Given the description of an element on the screen output the (x, y) to click on. 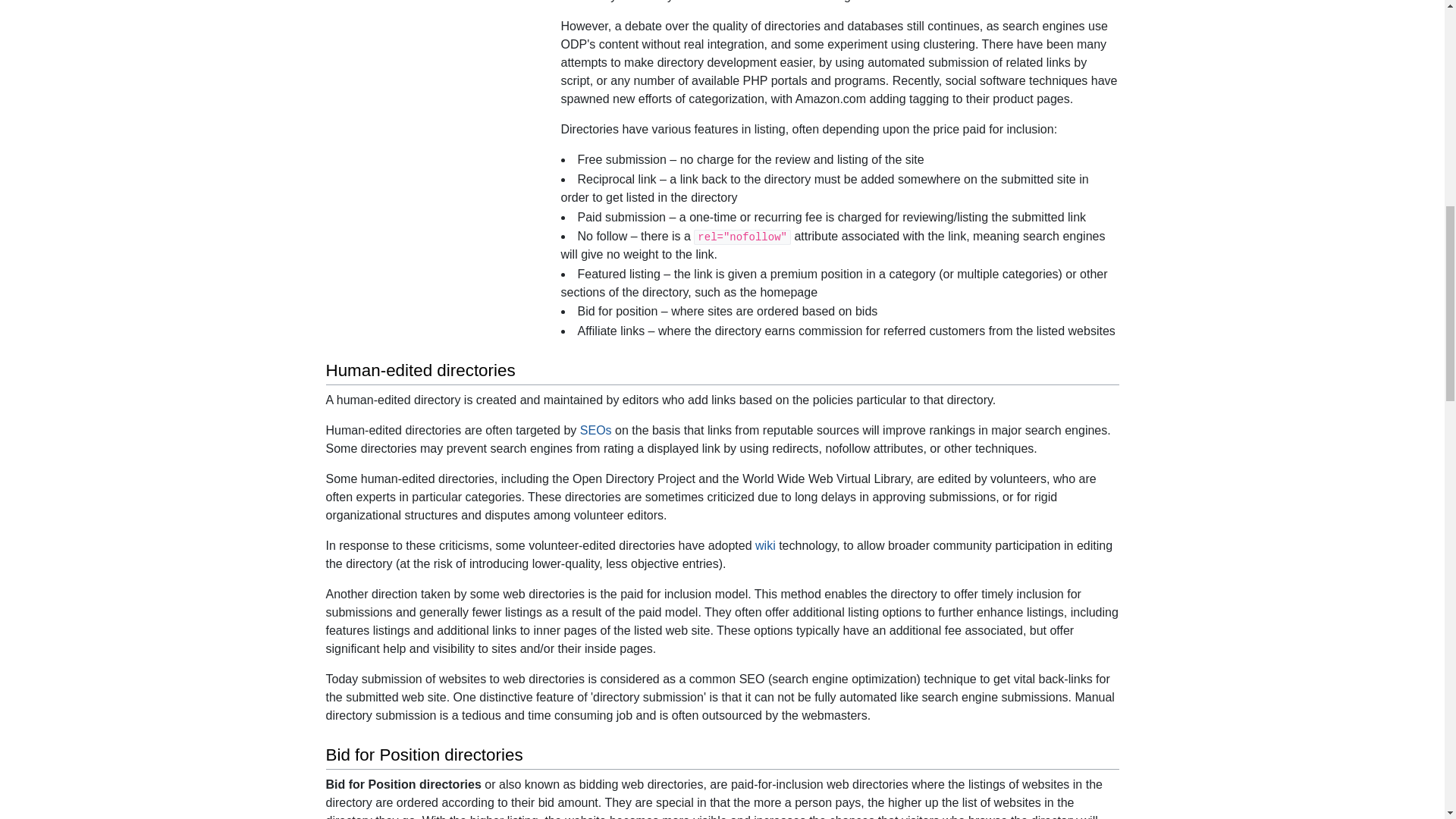
Search engine optimization (595, 430)
wiki (765, 545)
SEOs (595, 430)
Wiki (765, 545)
